Given the description of an element on the screen output the (x, y) to click on. 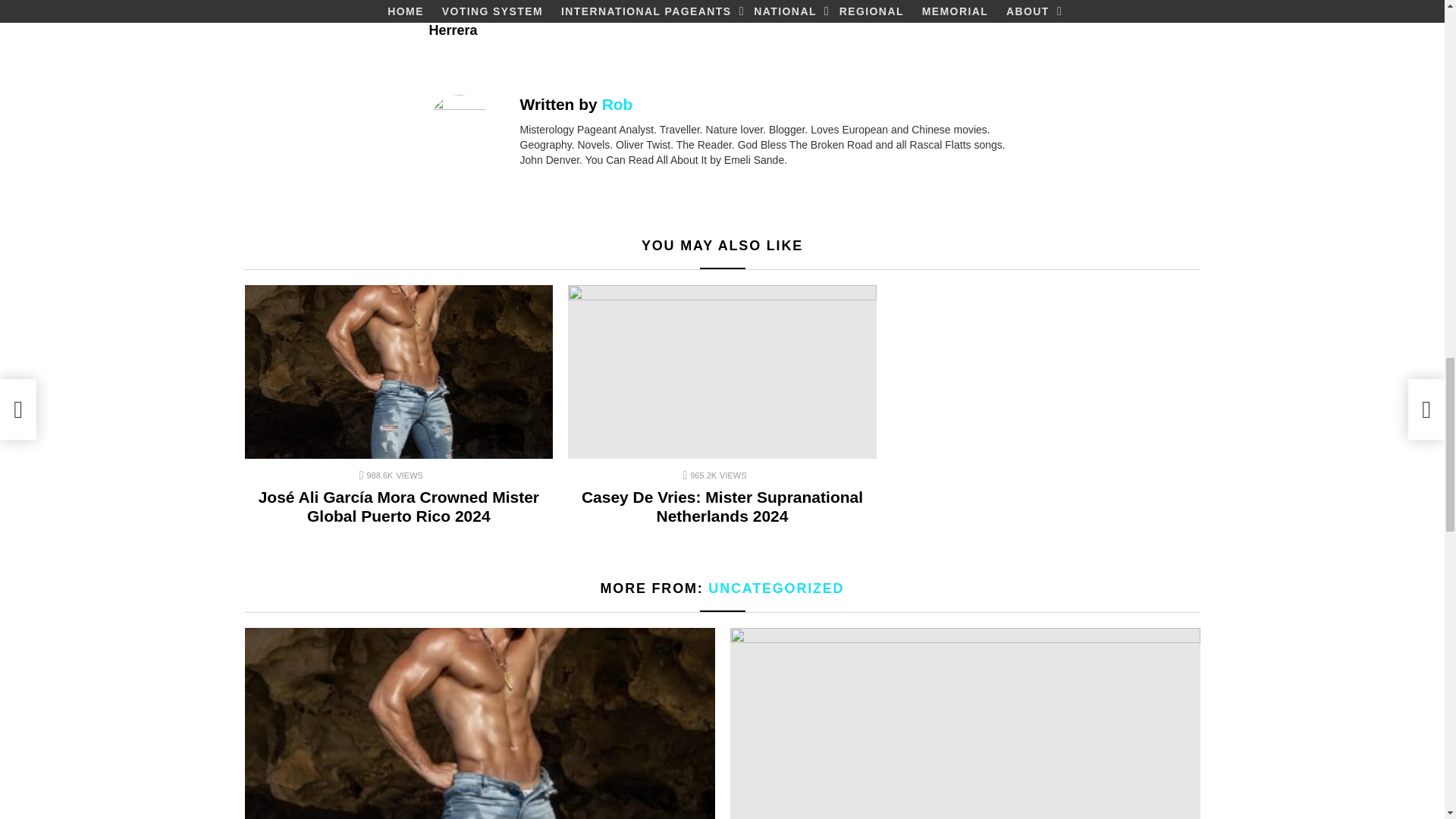
Rob (617, 104)
Casey De Vries: Mister Supranational Netherlands 2024 (721, 371)
